Given the description of an element on the screen output the (x, y) to click on. 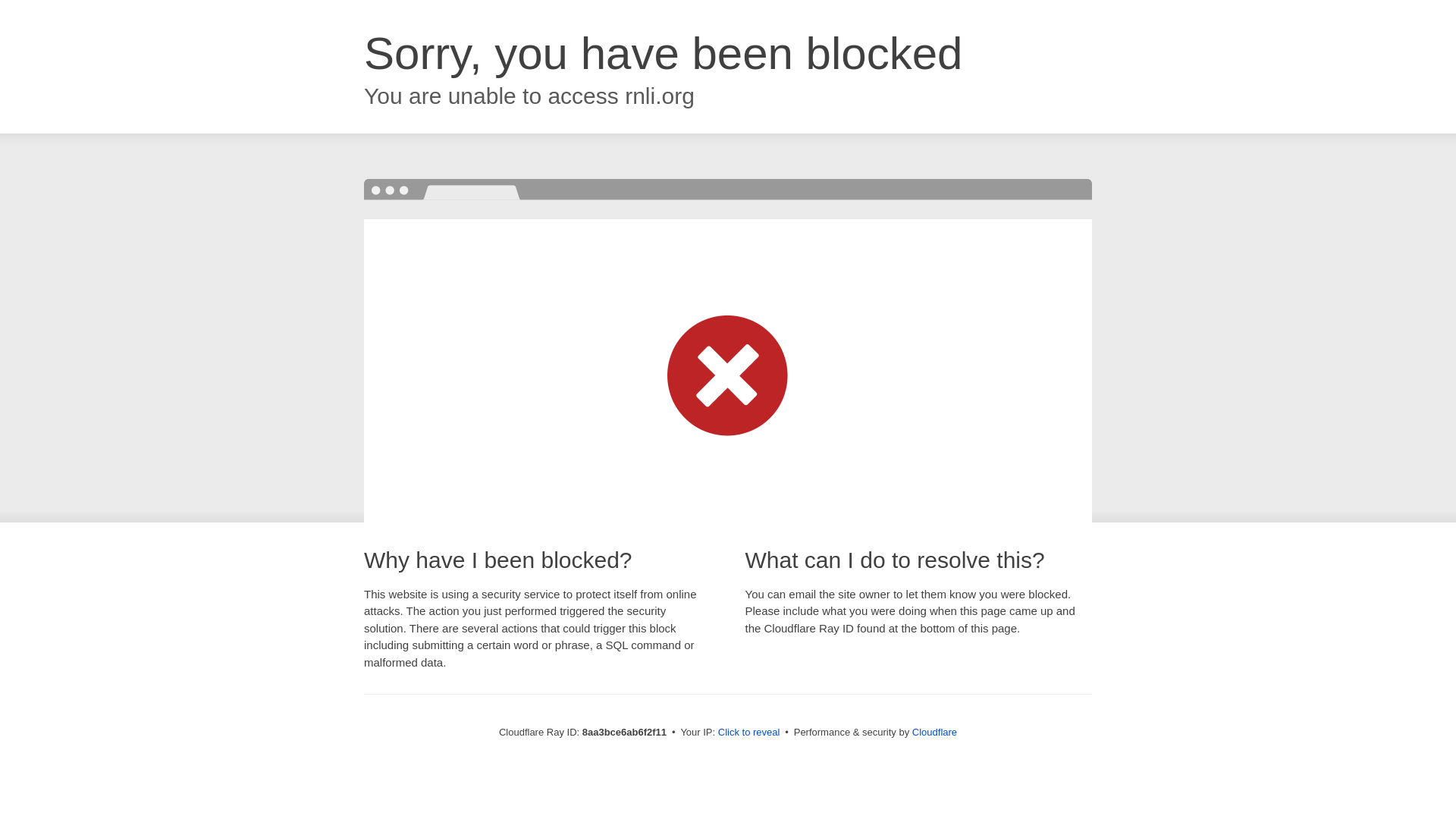
Cloudflare (934, 731)
Click to reveal (748, 732)
